Given the description of an element on the screen output the (x, y) to click on. 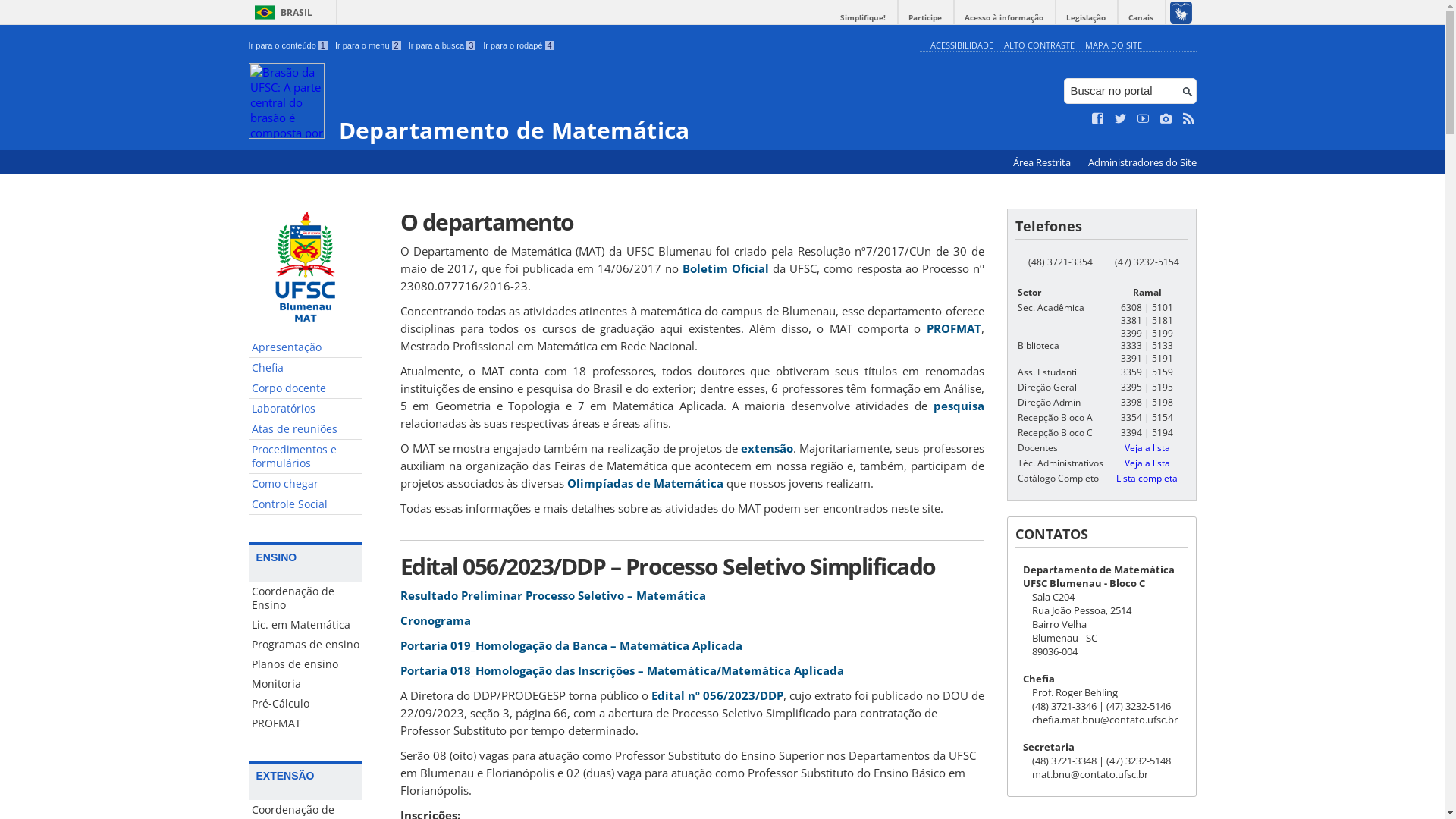
PROFMAT Element type: text (953, 327)
Curta no Facebook Element type: hover (1098, 118)
Ir para a busca 3 Element type: text (442, 45)
BRASIL Element type: text (280, 12)
Canais Element type: text (1140, 18)
Administradores do Site Element type: text (1141, 162)
Ir para o menu 2 Element type: text (368, 45)
Veja no Instagram Element type: hover (1166, 118)
Siga no Twitter Element type: hover (1120, 118)
Lista completa Element type: text (1146, 477)
Controle Social Element type: text (305, 504)
pesquisa Element type: text (957, 405)
Programas de ensino Element type: text (305, 644)
Corpo docente Element type: text (305, 388)
Simplifique! Element type: text (862, 18)
ALTO CONTRASTE Element type: text (1039, 44)
Cronograma Element type: text (435, 619)
Chefia Element type: text (305, 367)
Veja a lista Element type: text (1146, 447)
Monitoria Element type: text (305, 683)
MAPA DO SITE Element type: text (1112, 44)
Planos de ensino Element type: text (305, 664)
Boletim Oficial Element type: text (725, 268)
PROFMAT Element type: text (305, 723)
O departamento Element type: text (692, 221)
Como chegar Element type: text (305, 483)
ACESSIBILIDADE Element type: text (960, 44)
Veja a lista Element type: text (1146, 462)
Participe Element type: text (924, 18)
